Given the description of an element on the screen output the (x, y) to click on. 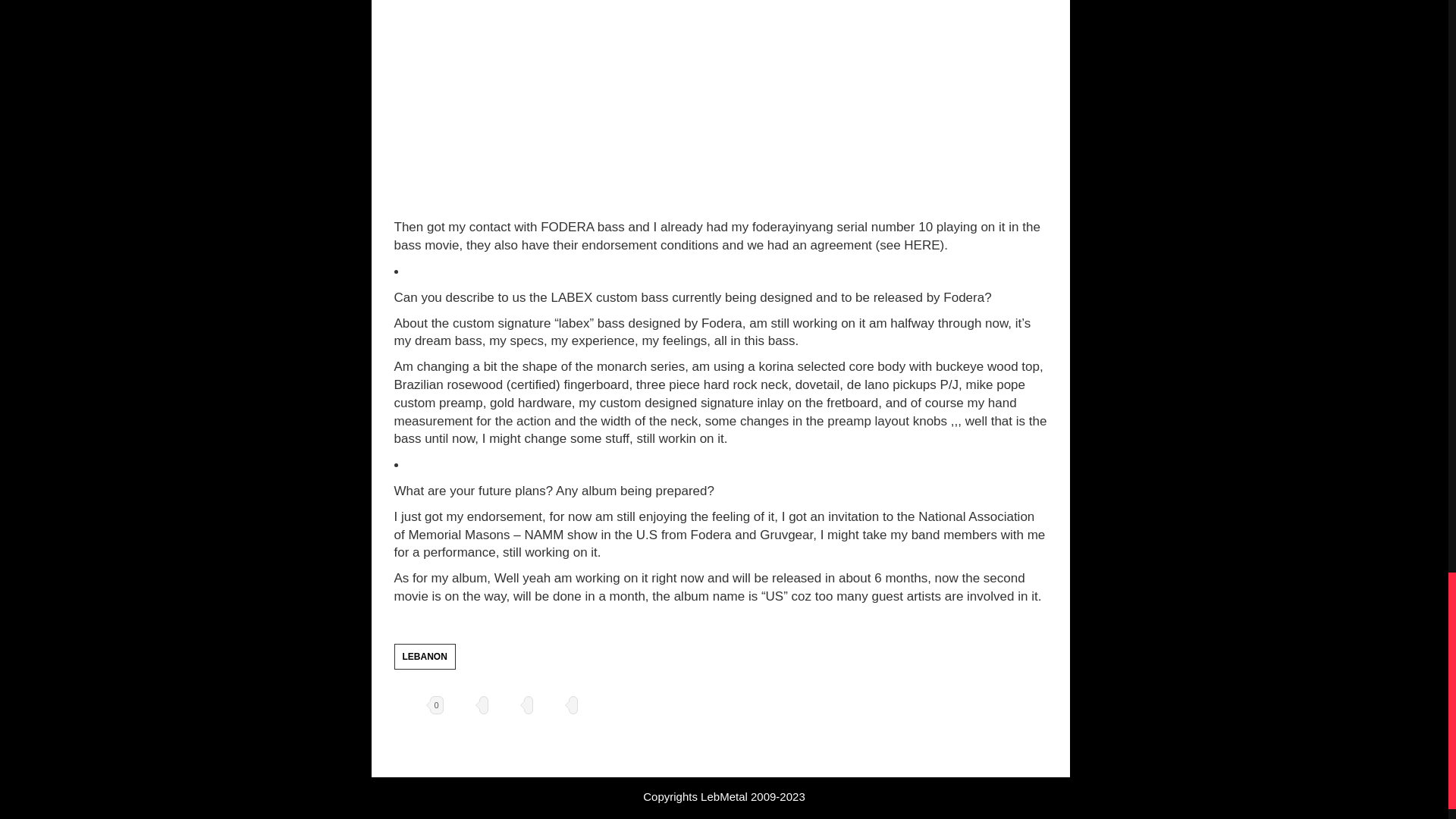
0 (419, 705)
LEBANON (424, 656)
